Given the description of an element on the screen output the (x, y) to click on. 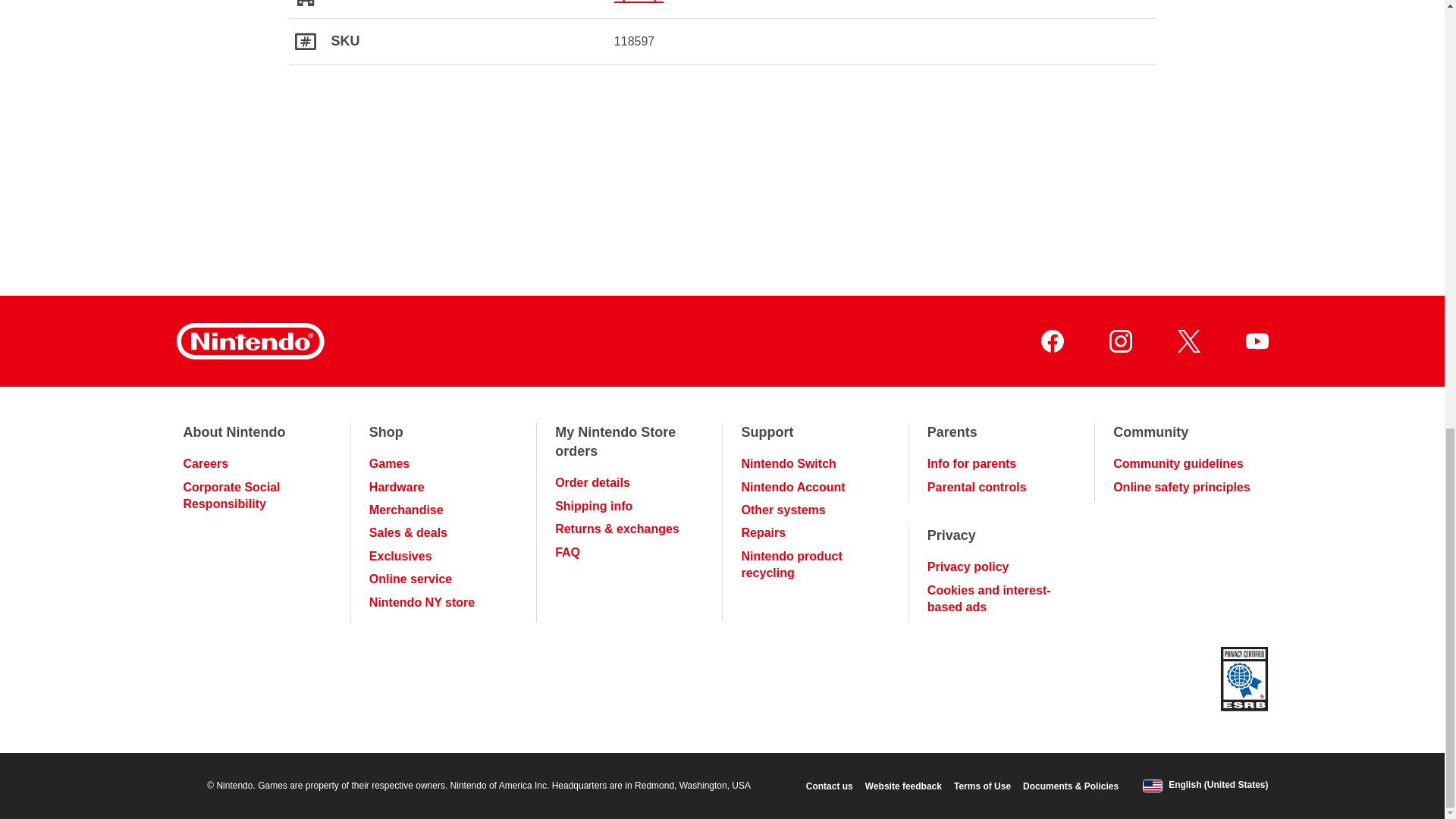
Nintendo on Twitter (1187, 341)
Nintendo on Instagram (1119, 341)
Nintendo on Facebook (1051, 341)
Nintendo Homepage (249, 340)
Nintendo on YouTube (1256, 341)
